Given the description of an element on the screen output the (x, y) to click on. 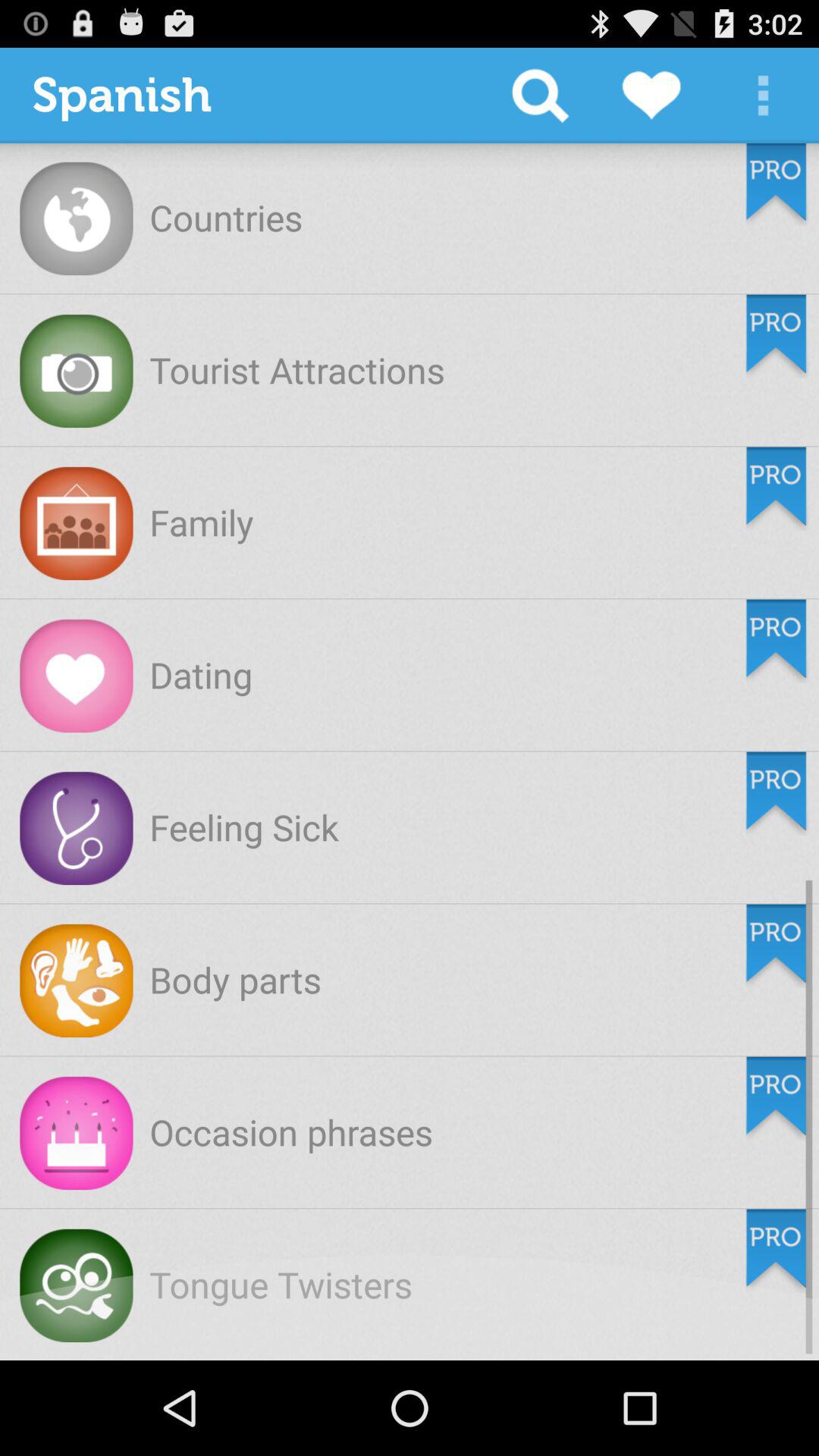
tap item to the right of spanish icon (540, 95)
